Given the description of an element on the screen output the (x, y) to click on. 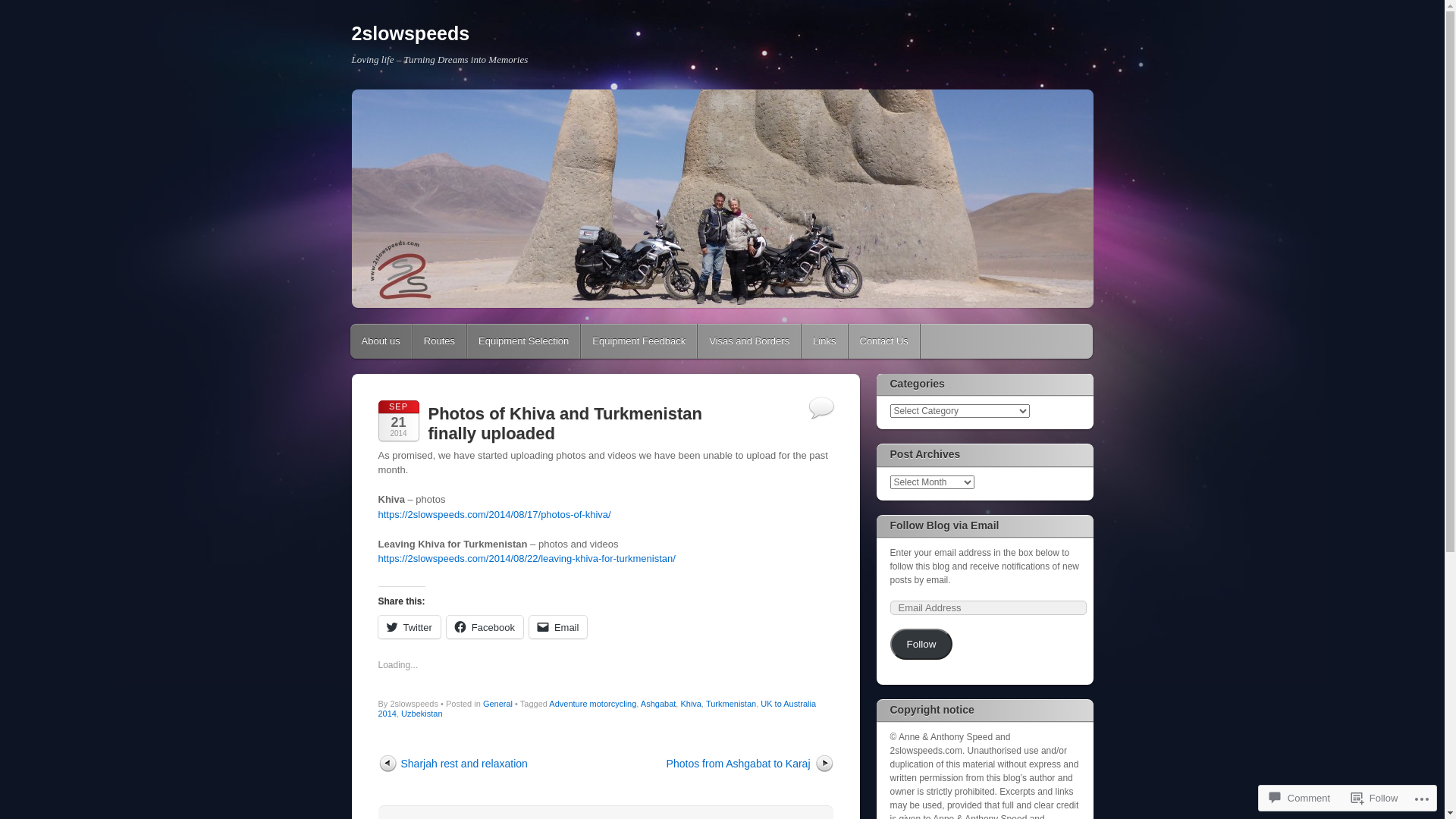
Twitter Element type: text (408, 626)
Adventure motorcycling Element type: text (592, 703)
Facebook Element type: text (484, 626)
Email Element type: text (558, 626)
Visas and Borders Element type: text (748, 340)
Turkmenistan Element type: text (731, 703)
Equipment Feedback Element type: text (638, 340)
Follow Element type: text (921, 643)
Follow Element type: text (1374, 797)
General Element type: text (497, 703)
Sharjah rest and relaxation Element type: text (452, 764)
Uzbekistan Element type: text (421, 713)
About us Element type: text (380, 340)
UK to Australia 2014 Element type: text (596, 708)
Skip to content Element type: text (394, 340)
Contact Us Element type: text (883, 340)
https://2slowspeeds.com/2014/08/17/photos-of-khiva/ Element type: text (493, 514)
Equipment Selection Element type: text (523, 340)
Ashgabat Element type: text (657, 703)
Search Element type: text (20, 9)
2slowspeeds Element type: text (410, 32)
Khiva Element type: text (690, 703)
Comment Element type: text (1299, 797)
Routes Element type: text (439, 340)
Photos from Ashgabat to Karaj Element type: text (749, 764)
Links Element type: text (824, 340)
